Given the description of an element on the screen output the (x, y) to click on. 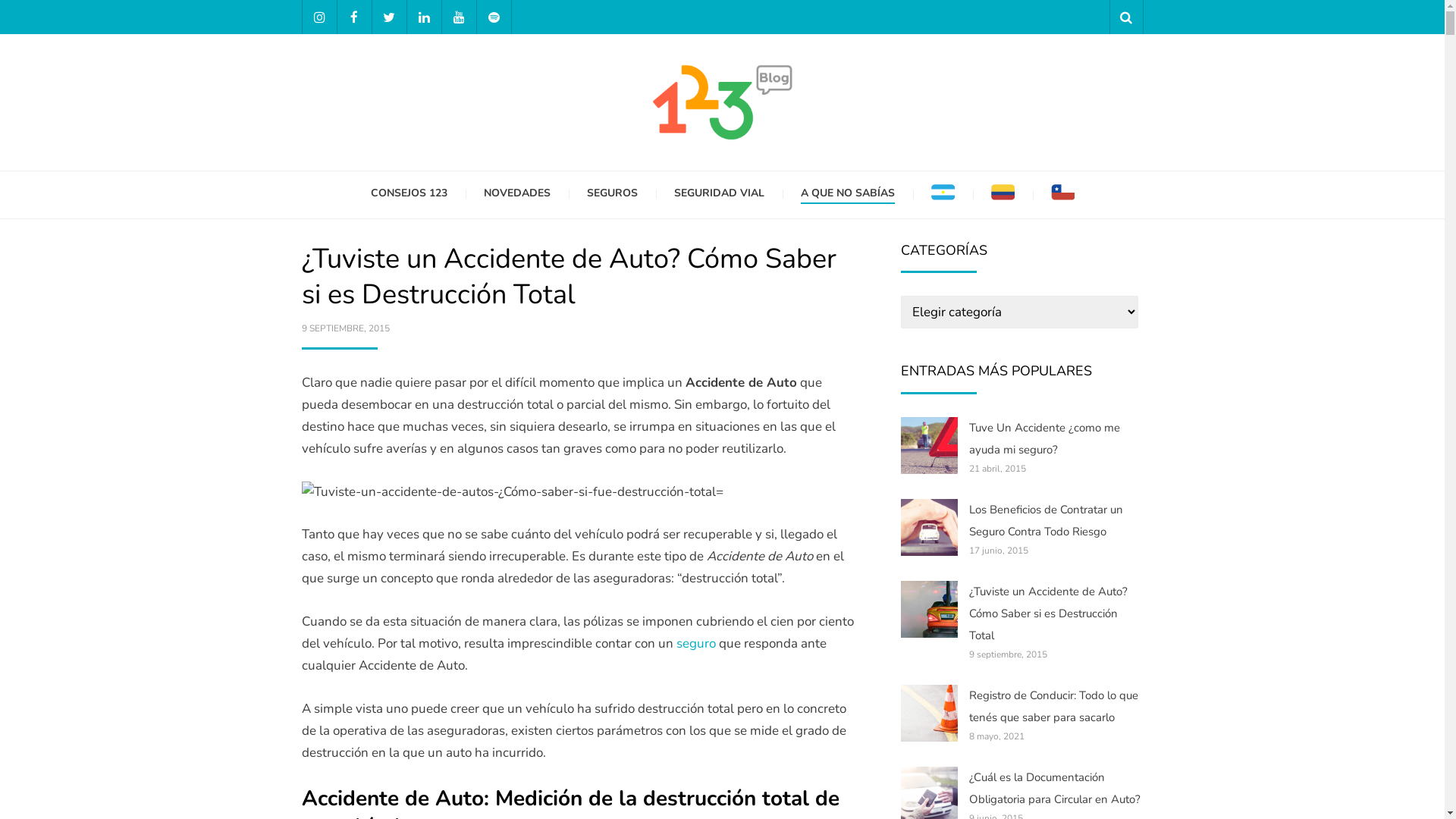
Spotify Insurtechies Element type: text (493, 17)
CONSEJOS 123 Element type: text (407, 193)
Youtube Element type: text (458, 17)
Buscar Element type: text (1125, 17)
Los Beneficios de Contratar un Seguro Contra Todo Riesgo Element type: text (1046, 520)
9 SEPTIEMBRE, 2015 Element type: text (345, 328)
SEGUROS Element type: text (611, 193)
COL Element type: text (1002, 194)
ARG Element type: text (942, 194)
NOVEDADES Element type: text (516, 193)
Instragram Element type: text (318, 17)
Linkedin Element type: text (423, 17)
seguro Element type: text (695, 643)
CHL Element type: text (1062, 194)
Facebook Element type: text (353, 17)
Twitter Element type: text (388, 17)
SEGURIDAD VIAL Element type: text (718, 193)
123BLOG-ARG Element type: text (915, 175)
